Given the description of an element on the screen output the (x, y) to click on. 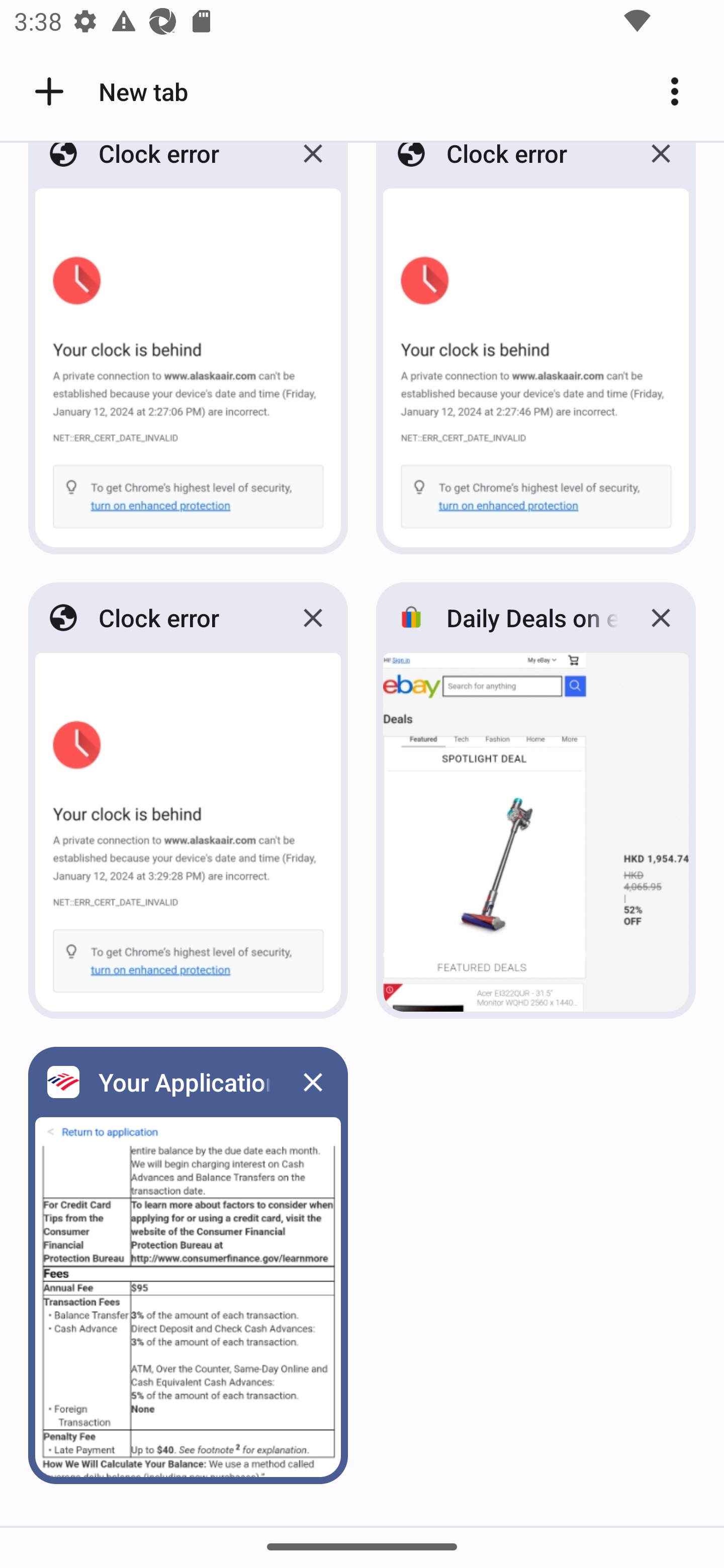
New tab (108, 91)
More options (681, 91)
Clock error Clock error, tab Close Clock error tab (187, 354)
Close Clock error tab (312, 168)
Clock error Clock error, tab Close Clock error tab (536, 354)
Close Clock error tab (660, 168)
Clock error Clock error, tab Close Clock error tab (187, 800)
Close Clock error tab (312, 617)
Close Your Application tab (312, 1081)
